Given the description of an element on the screen output the (x, y) to click on. 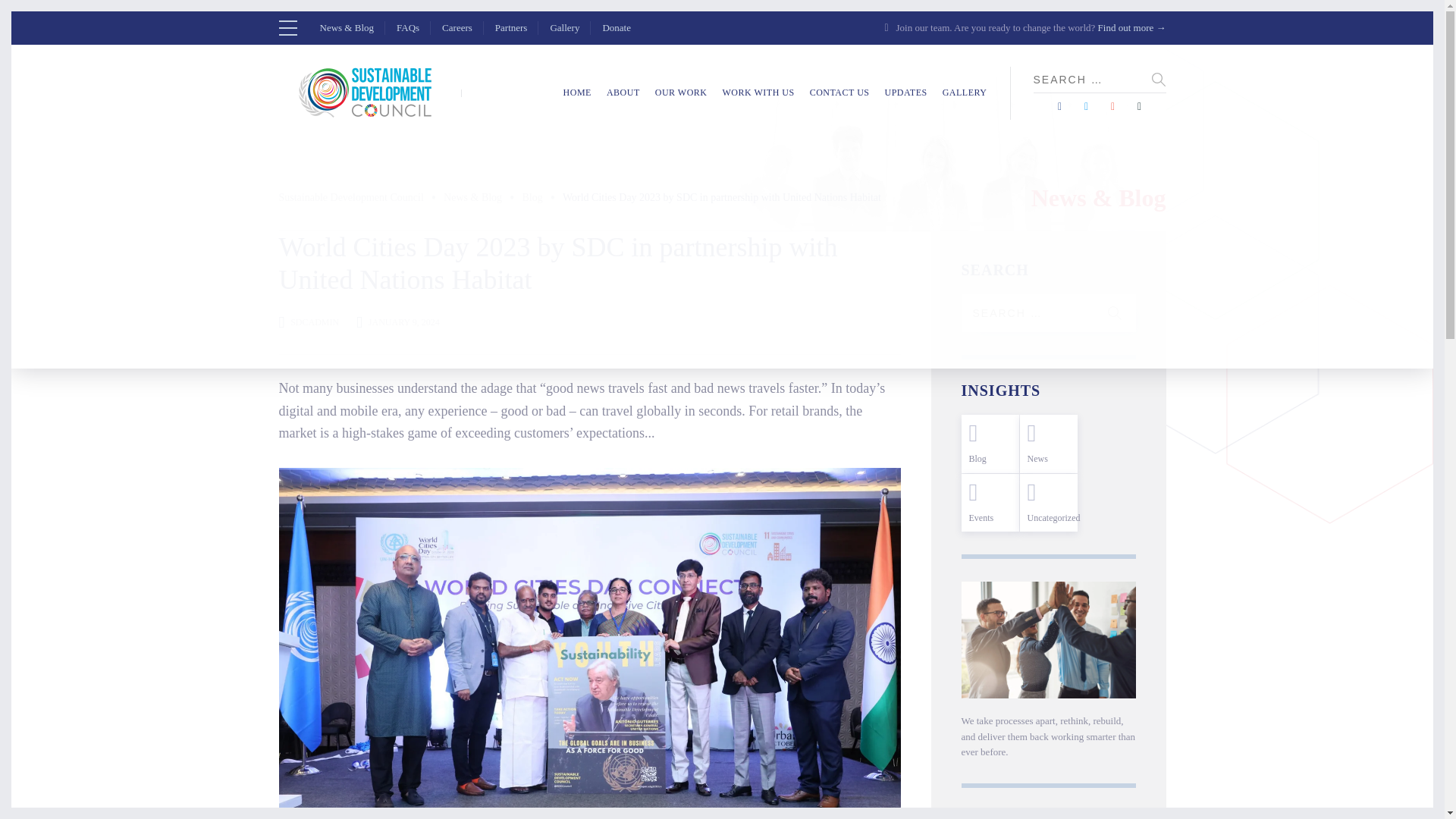
Go to Sustainable Development Council. (351, 198)
FAQs (407, 27)
Search (1158, 79)
Partners (511, 27)
Search (1114, 313)
OUR WORK (681, 92)
Search (1114, 313)
WORK WITH US (758, 92)
Careers (456, 27)
Posts by SDCAdmin (314, 321)
Donate (616, 27)
Search (1158, 79)
Gallery (564, 27)
